Given the description of an element on the screen output the (x, y) to click on. 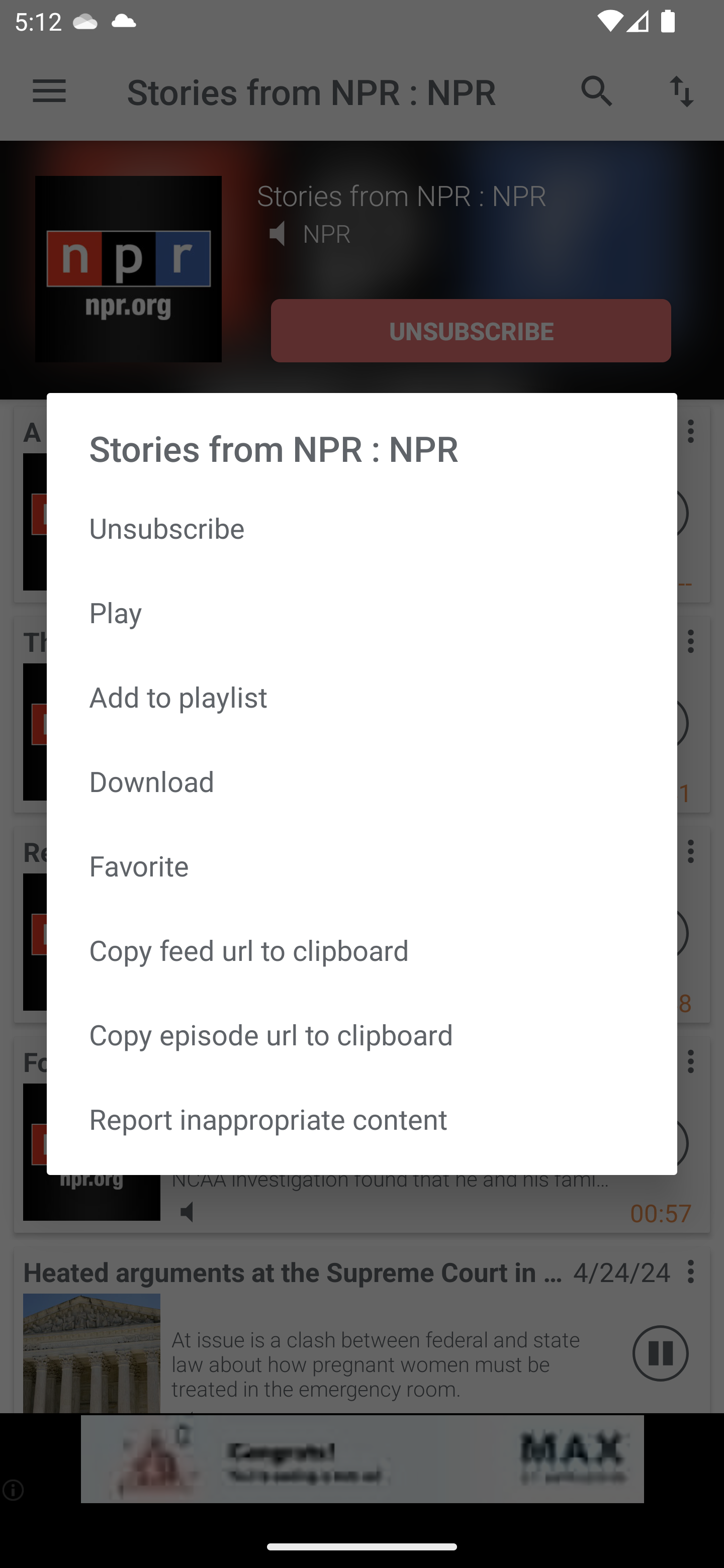
Unsubscribe (361, 527)
Play (361, 611)
Add to playlist (361, 695)
Download (361, 780)
Favorite (361, 865)
Copy feed url to clipboard (361, 949)
Copy episode url to clipboard (361, 1034)
Report inappropriate content (361, 1118)
